Given the description of an element on the screen output the (x, y) to click on. 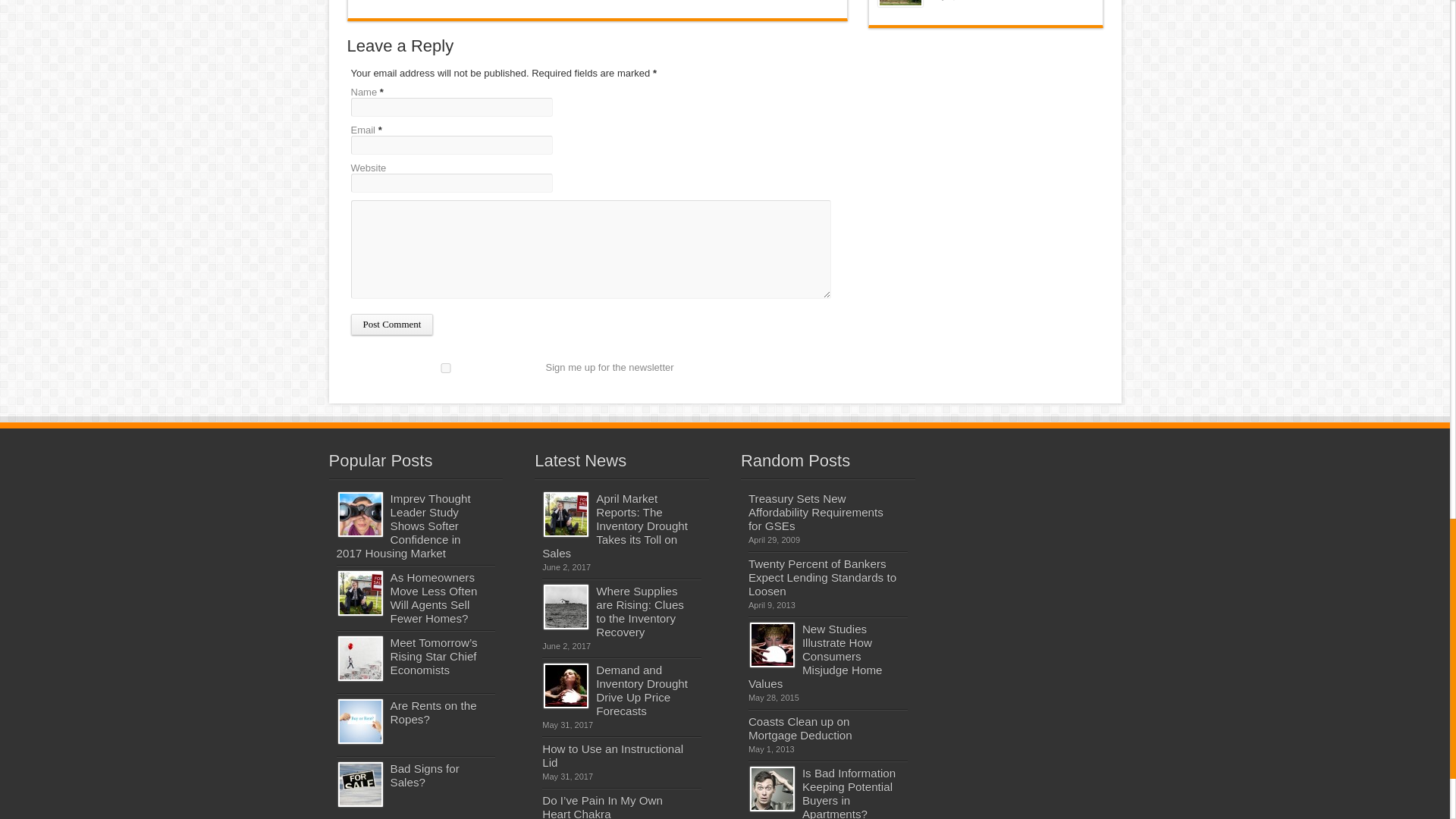
1 (445, 368)
Post Comment (391, 323)
